Given the description of an element on the screen output the (x, y) to click on. 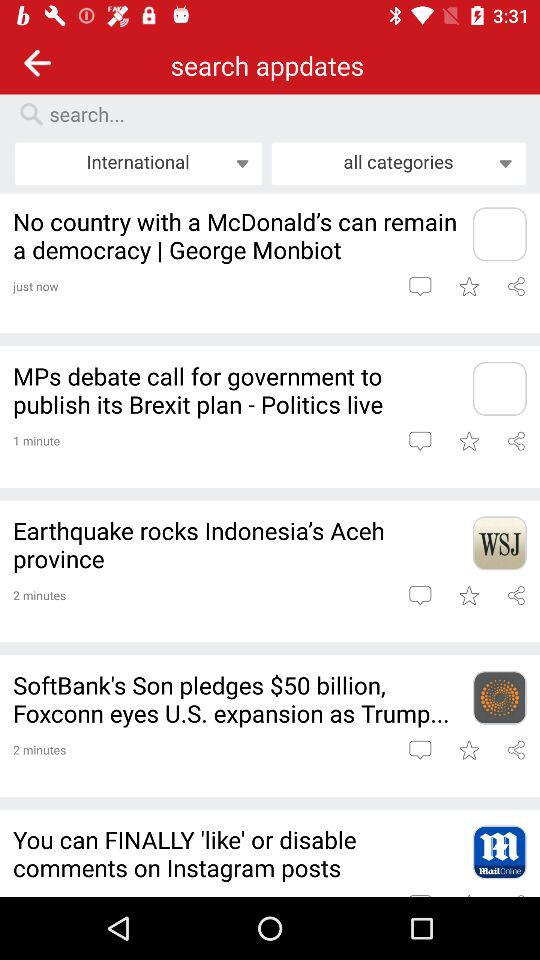
comment on article toggle (419, 595)
